Given the description of an element on the screen output the (x, y) to click on. 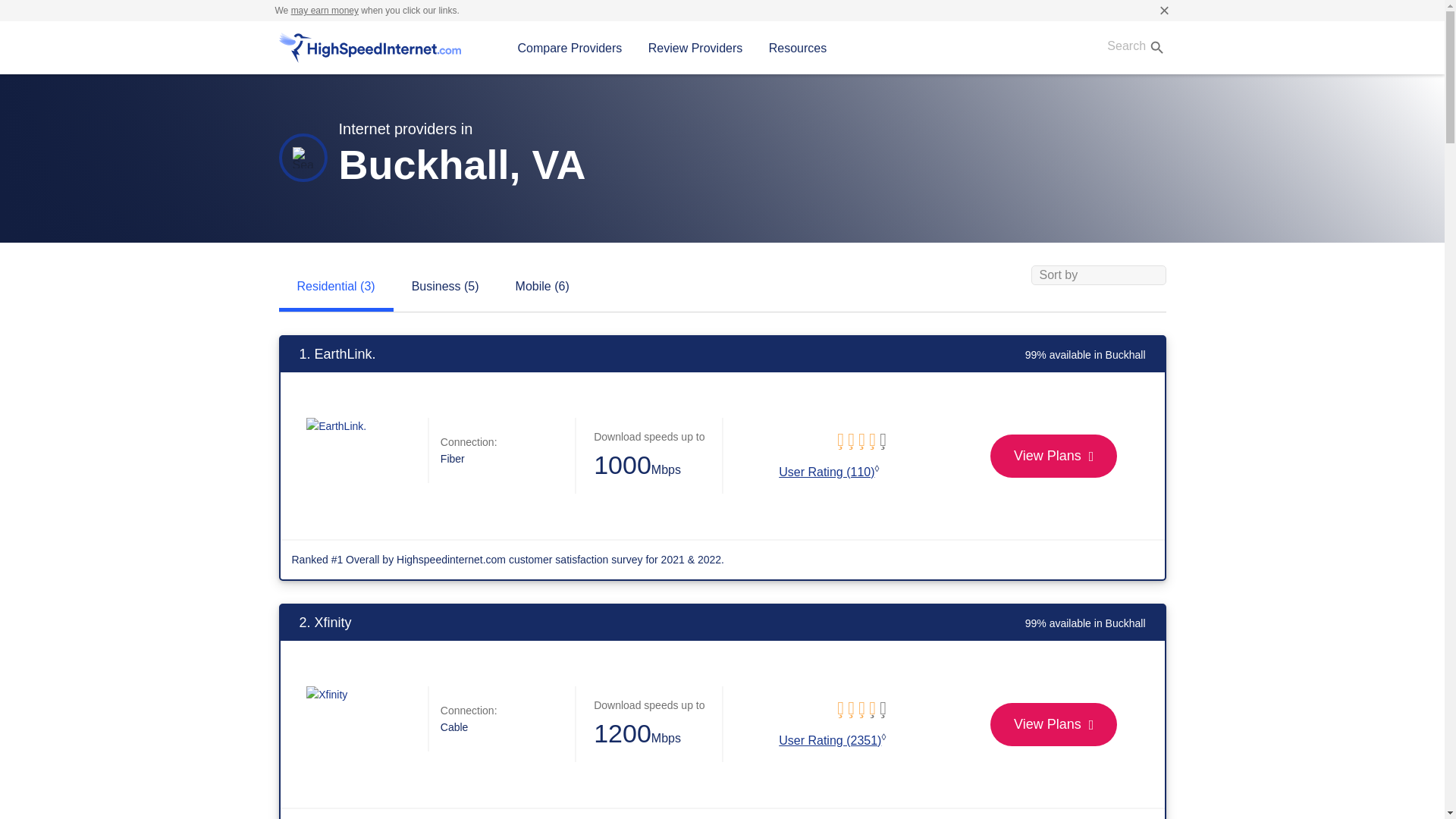
Search (1131, 47)
Review Providers (695, 47)
may earn money (324, 9)
Compare Providers (569, 47)
High Speed Internet Providers (370, 47)
View Plans (1053, 455)
View Plans (1053, 724)
Resources (797, 47)
